Given the description of an element on the screen output the (x, y) to click on. 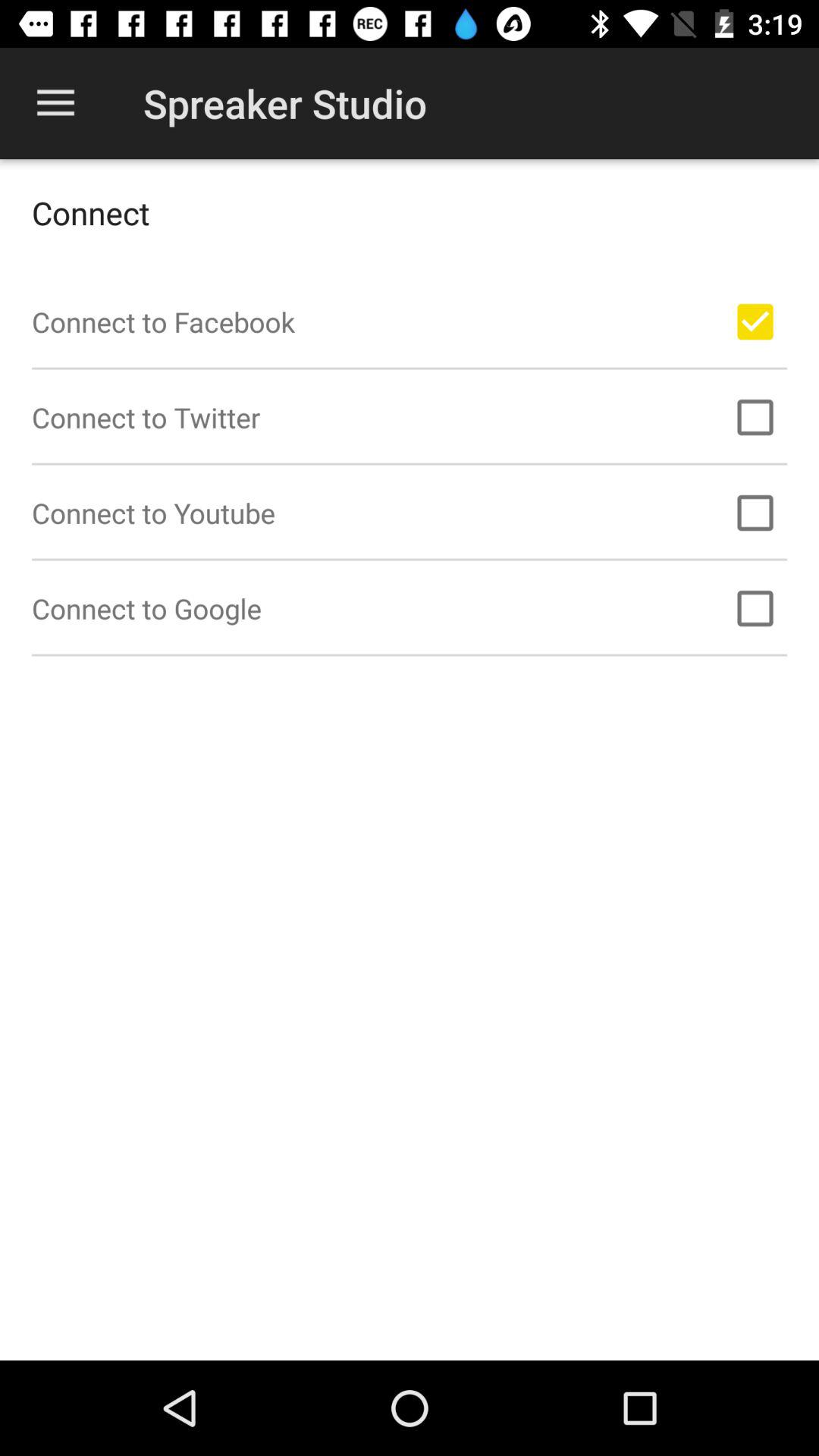
connect to google (755, 608)
